Given the description of an element on the screen output the (x, y) to click on. 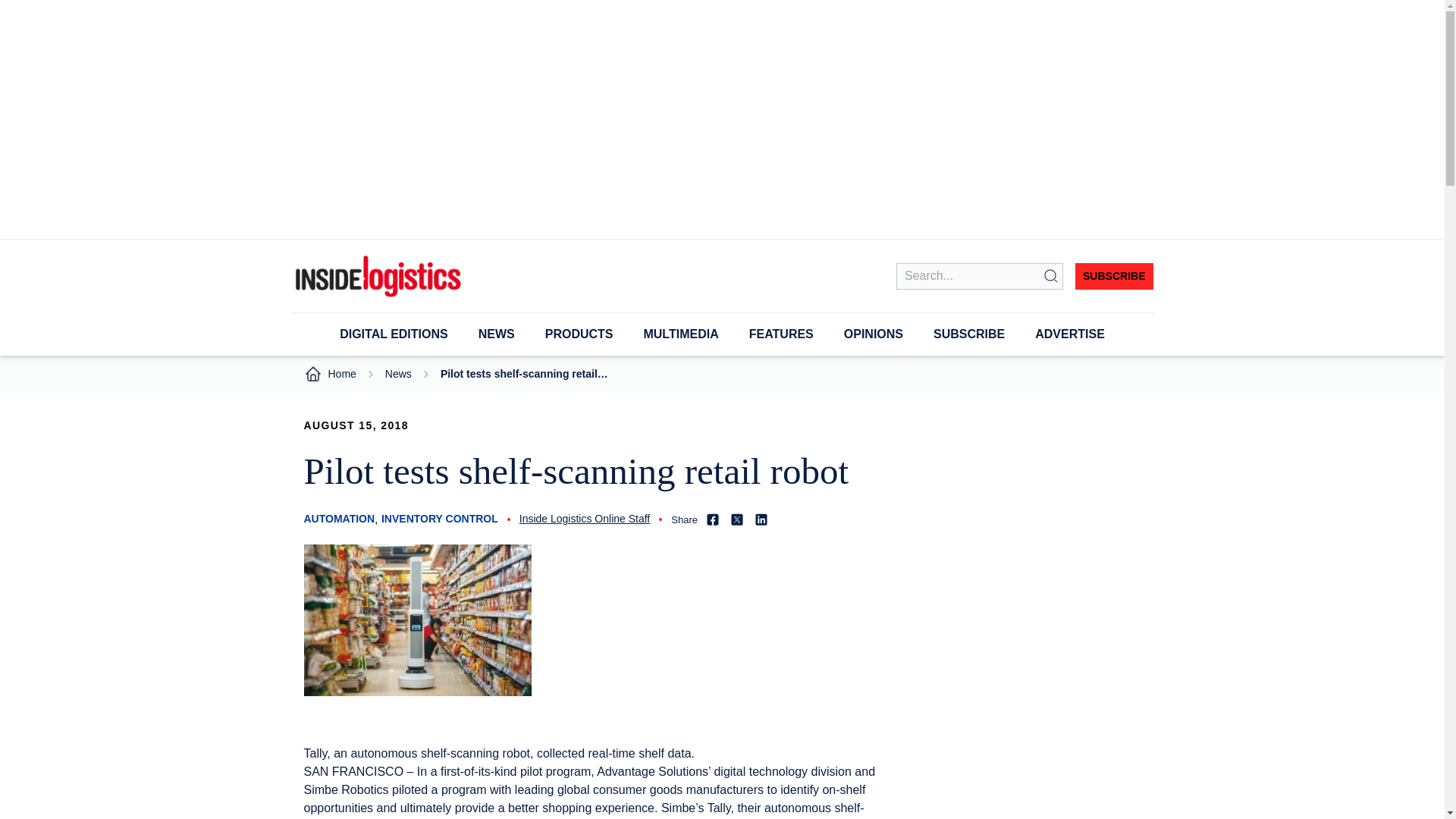
ADVERTISE (1070, 333)
INVENTORY CONTROL (439, 519)
Share on LinkedIn (761, 519)
OPINIONS (873, 333)
FEATURES (781, 333)
Share on Facebook (712, 519)
Share on X (736, 519)
News (398, 374)
SUBSCRIBE (1114, 275)
3rd party ad content (1026, 781)
